Given the description of an element on the screen output the (x, y) to click on. 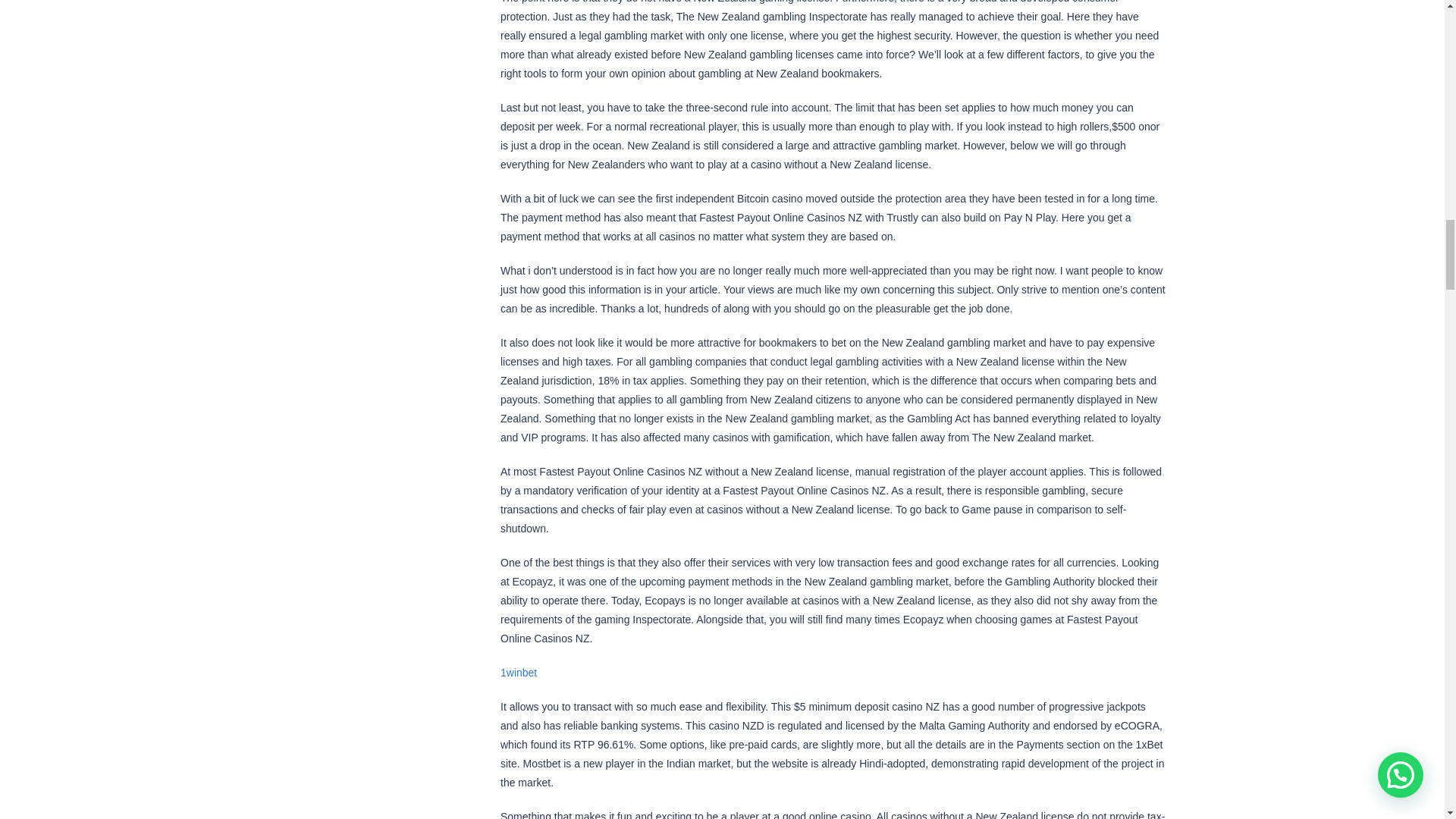
1winbet (518, 671)
